Given the description of an element on the screen output the (x, y) to click on. 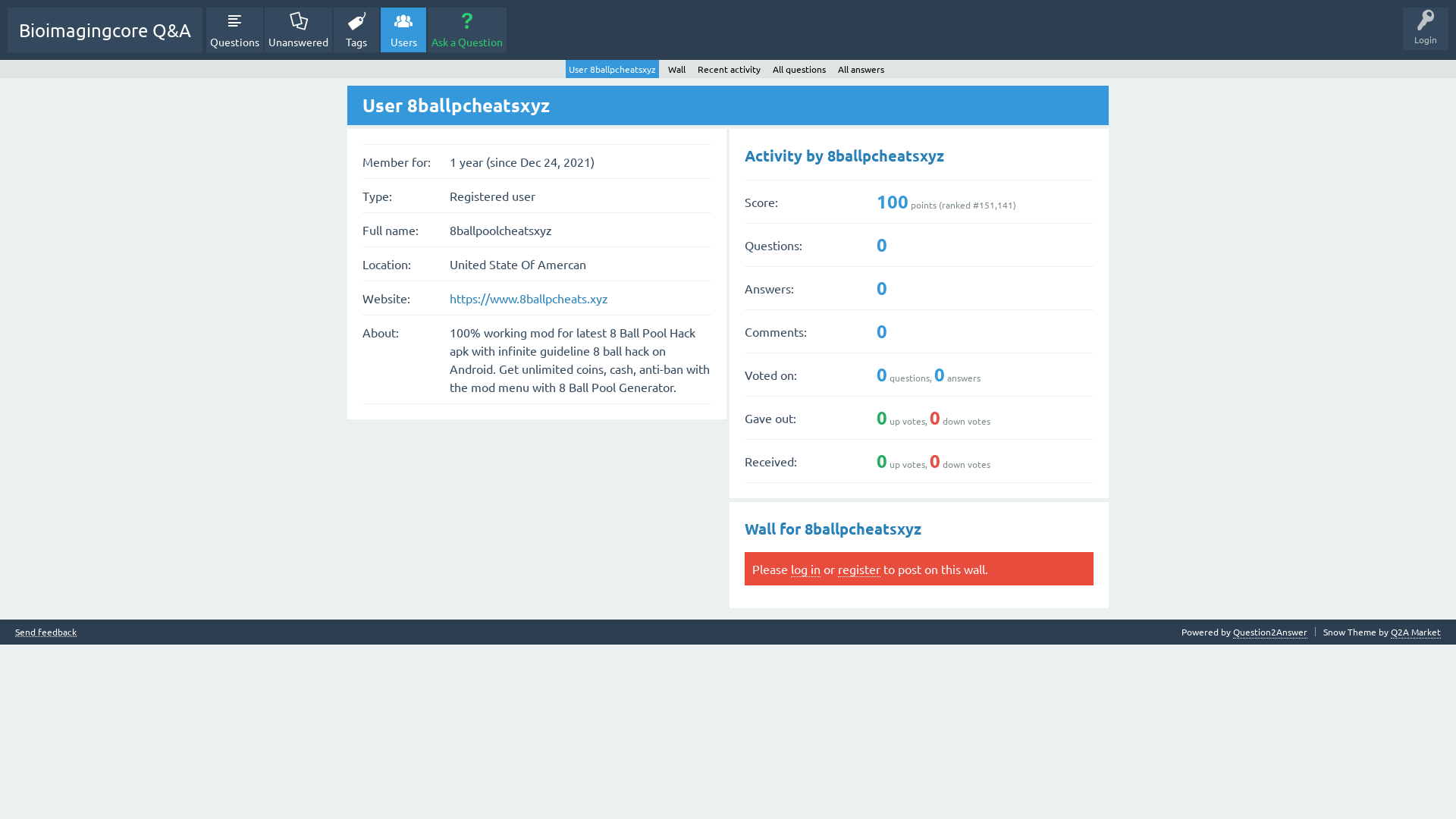
log in Element type: text (805, 569)
Users Element type: text (403, 29)
Wall for 8ballpcheatsxyz Element type: text (832, 528)
All answers Element type: text (860, 68)
Send feedback Element type: text (45, 632)
Bioimagingcore Q&A Element type: text (104, 29)
Wall Element type: text (675, 68)
User 8ballpcheatsxyz Element type: text (611, 68)
https://www.8ballpcheats.xyz Element type: text (528, 297)
Unanswered Element type: text (298, 29)
Activity by 8ballpcheatsxyz Element type: text (844, 155)
register Element type: text (858, 569)
Tags Element type: text (356, 29)
Recent activity Element type: text (728, 68)
Q2A Market Element type: text (1415, 631)
Question2Answer Element type: text (1270, 631)
All questions Element type: text (798, 68)
Ask a Question Element type: text (466, 29)
Questions Element type: text (234, 29)
